Given the description of an element on the screen output the (x, y) to click on. 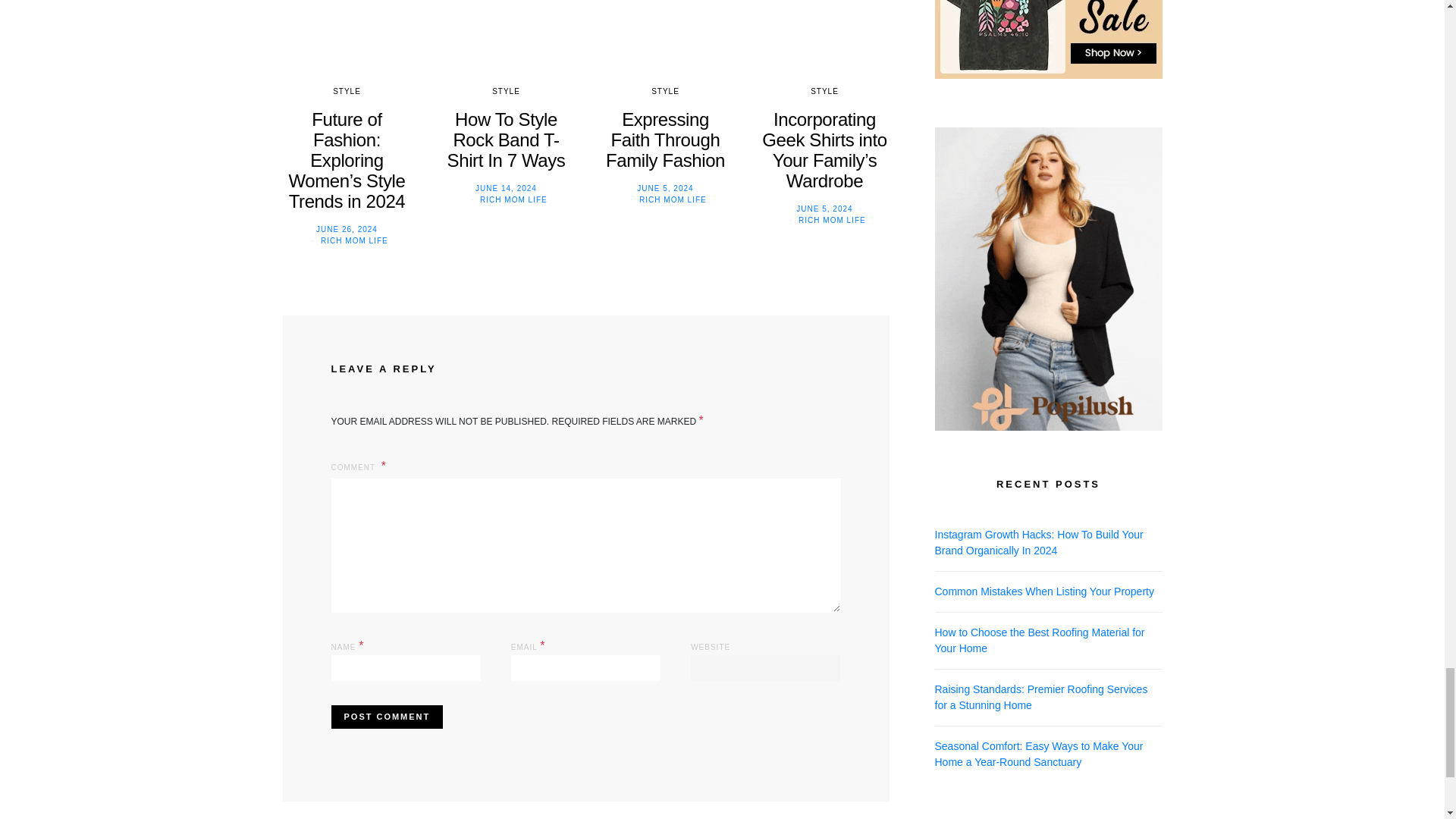
View all posts by Rich Mom Life (354, 240)
Post Comment (386, 716)
View all posts by Rich Mom Life (672, 199)
View all posts by Rich Mom Life (831, 220)
View all posts by Rich Mom Life (513, 199)
